Given the description of an element on the screen output the (x, y) to click on. 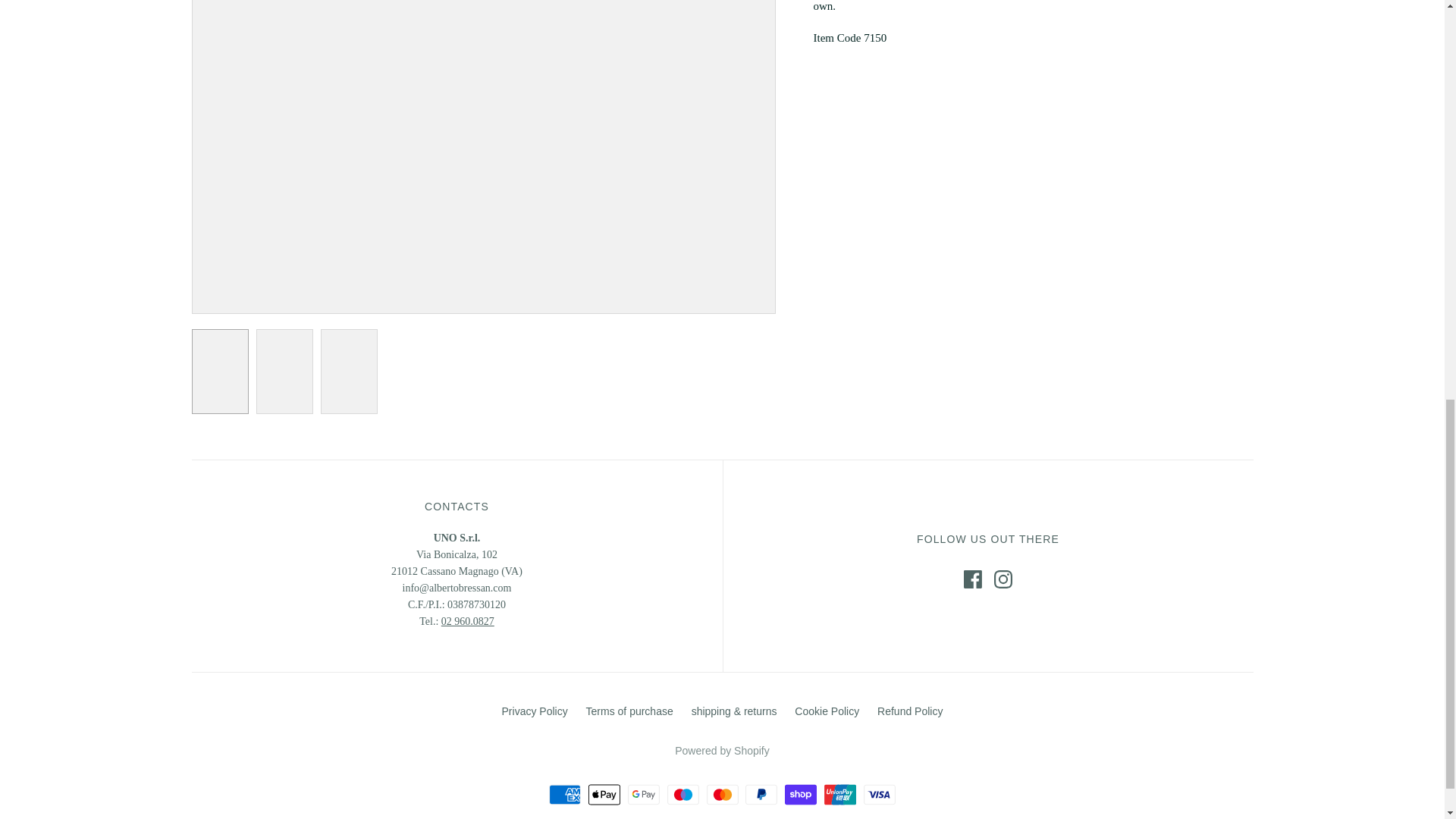
Visa (879, 794)
Maestro (682, 794)
Shop Pay (800, 794)
Mastercard (722, 794)
PayPal (761, 794)
Google Pay (643, 794)
02 960.0827 (468, 621)
Facebook Icon (972, 579)
Instagram Icon (1002, 579)
American Express (564, 794)
